Given the description of an element on the screen output the (x, y) to click on. 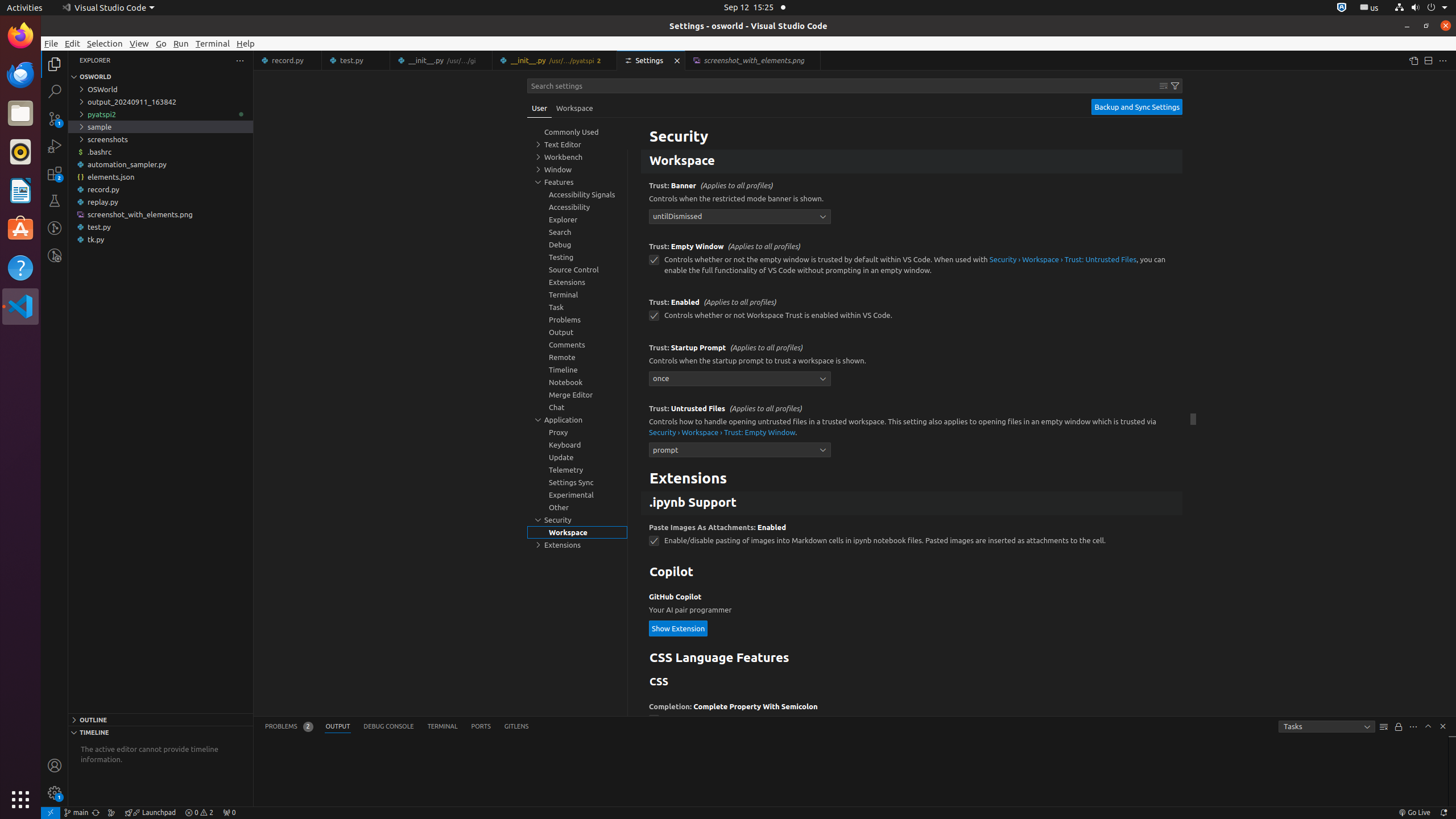
Extensions, group Element type: tree-item (577, 544)
untilDismissed Element type: menu-item (739, 216)
Outline Section Element type: push-button (160, 719)
remote Element type: push-button (50, 812)
sample Element type: tree-item (160, 126)
